Given the description of an element on the screen output the (x, y) to click on. 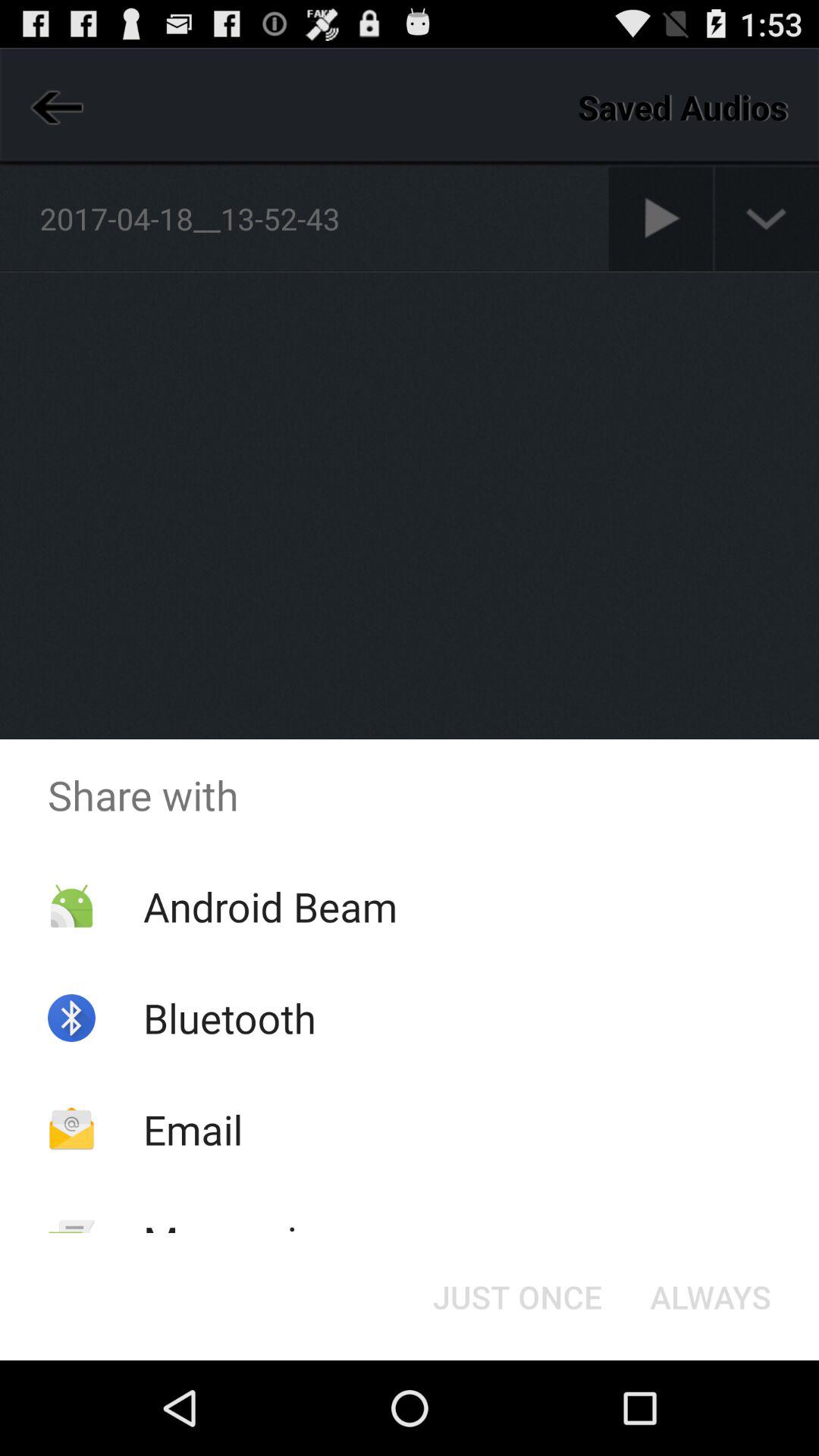
turn off the app below bluetooth item (192, 1128)
